Given the description of an element on the screen output the (x, y) to click on. 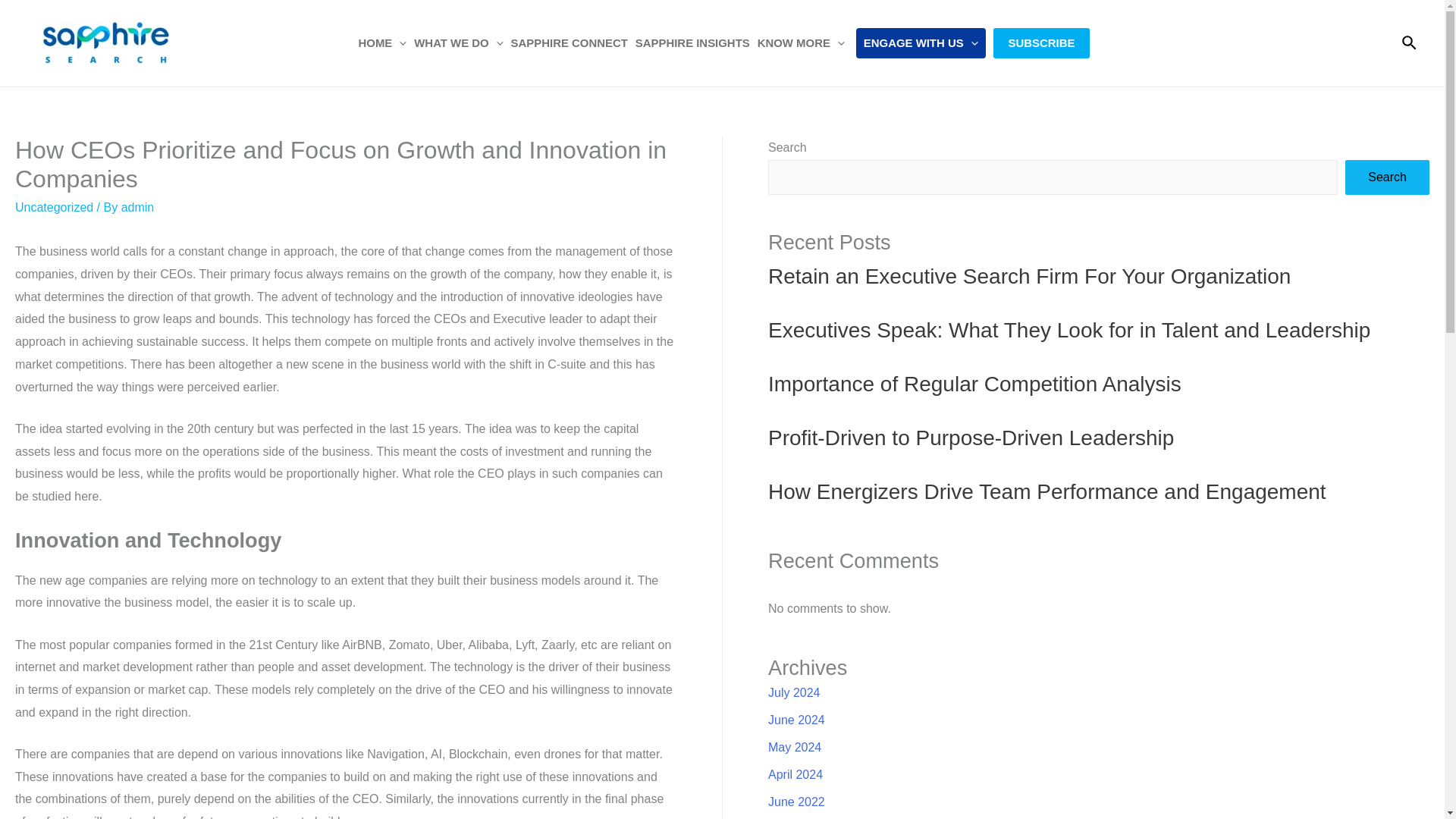
HOME (382, 42)
SUBSCRIBE (1041, 42)
KNOW MORE (801, 42)
WHAT WE DO (458, 42)
SAPPHIRE CONNECT (568, 42)
View all posts by admin (137, 206)
SAPPHIRE INSIGHTS (692, 42)
ENGAGE WITH US (920, 42)
